Given the description of an element on the screen output the (x, y) to click on. 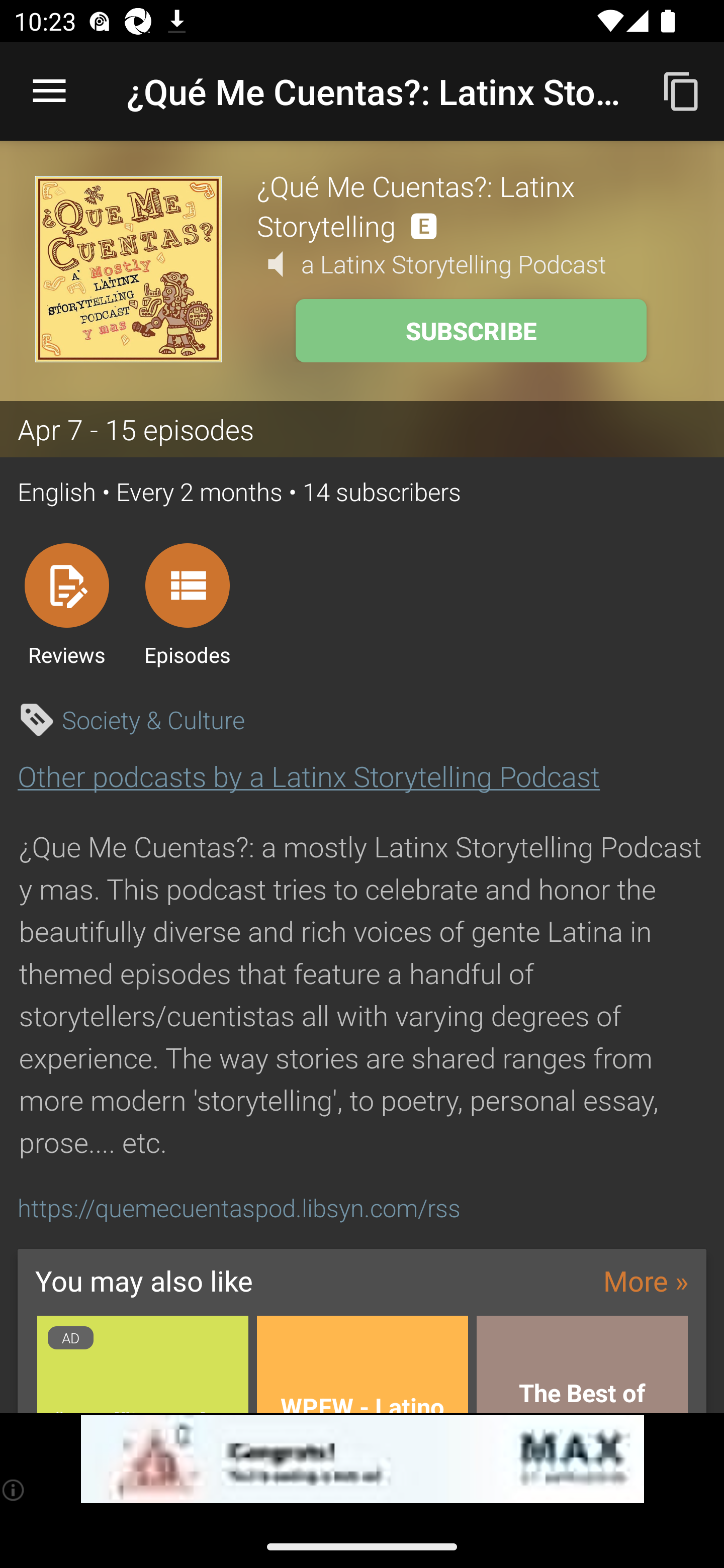
Open navigation sidebar (49, 91)
Copy feed url to clipboard (681, 90)
¿Qué Me Cuentas?: Latinx Storytelling  🅴 (472, 205)
SUBSCRIBE (470, 330)
Reviews (66, 604)
Episodes (187, 604)
Other podcasts by a Latinx Storytelling Podcast (308, 775)
More » (645, 1279)
app-monetization (362, 1459)
(i) (14, 1489)
